Given the description of an element on the screen output the (x, y) to click on. 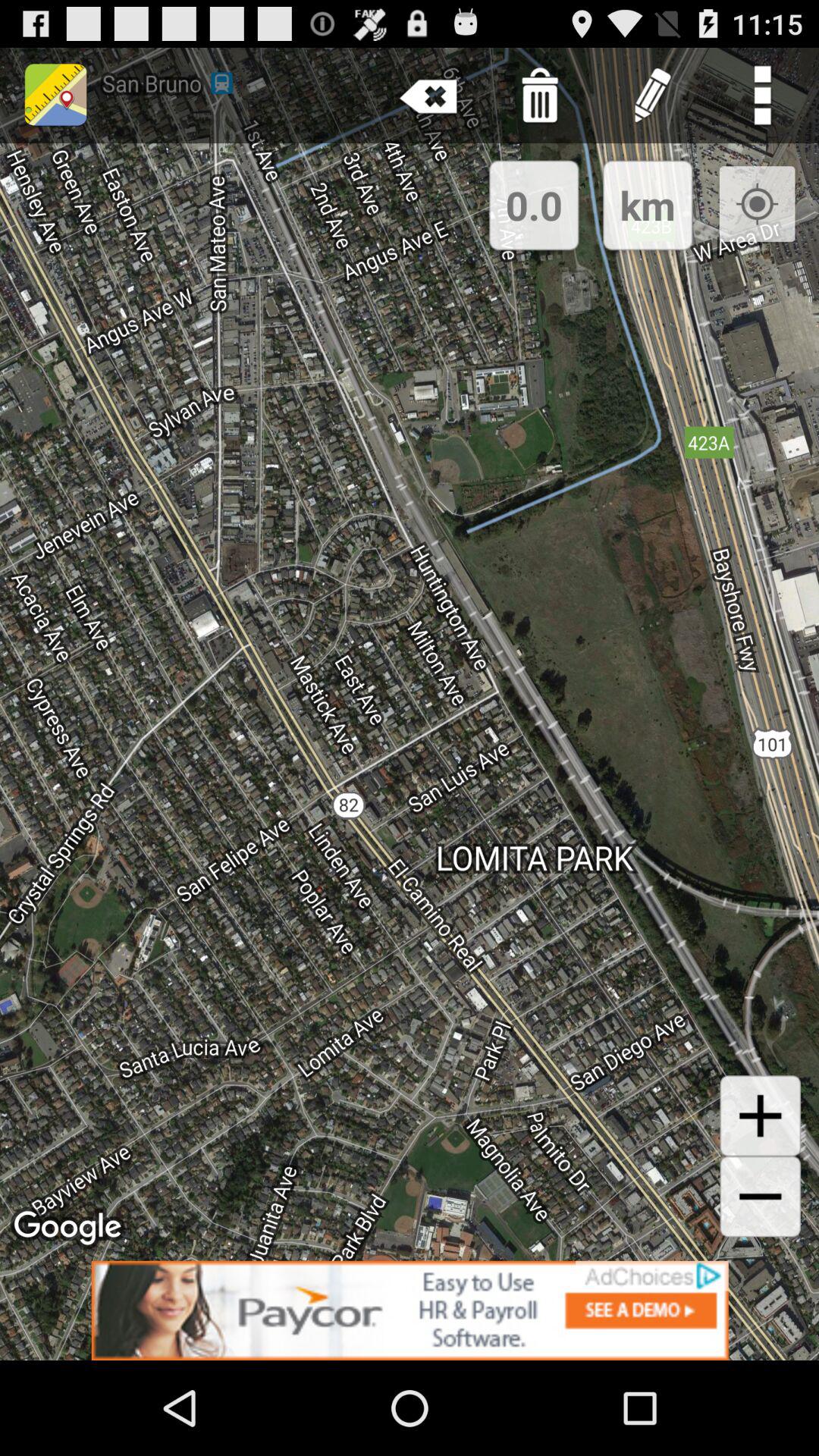
advertisement page (409, 1310)
